Given the description of an element on the screen output the (x, y) to click on. 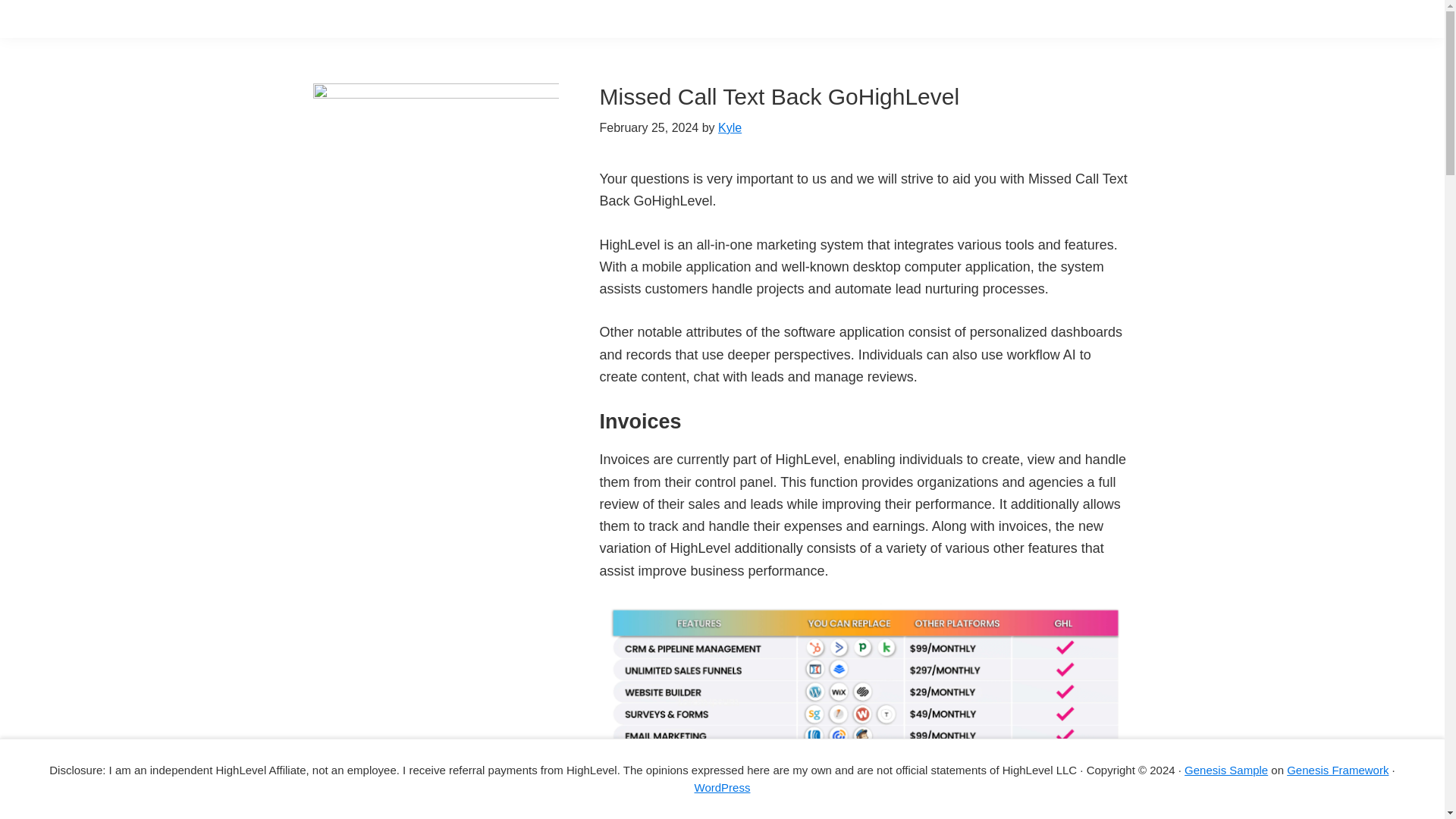
Genesis Framework (1338, 769)
WordPress (722, 787)
Genesis Sample (1226, 769)
Kyle (729, 127)
